Given the description of an element on the screen output the (x, y) to click on. 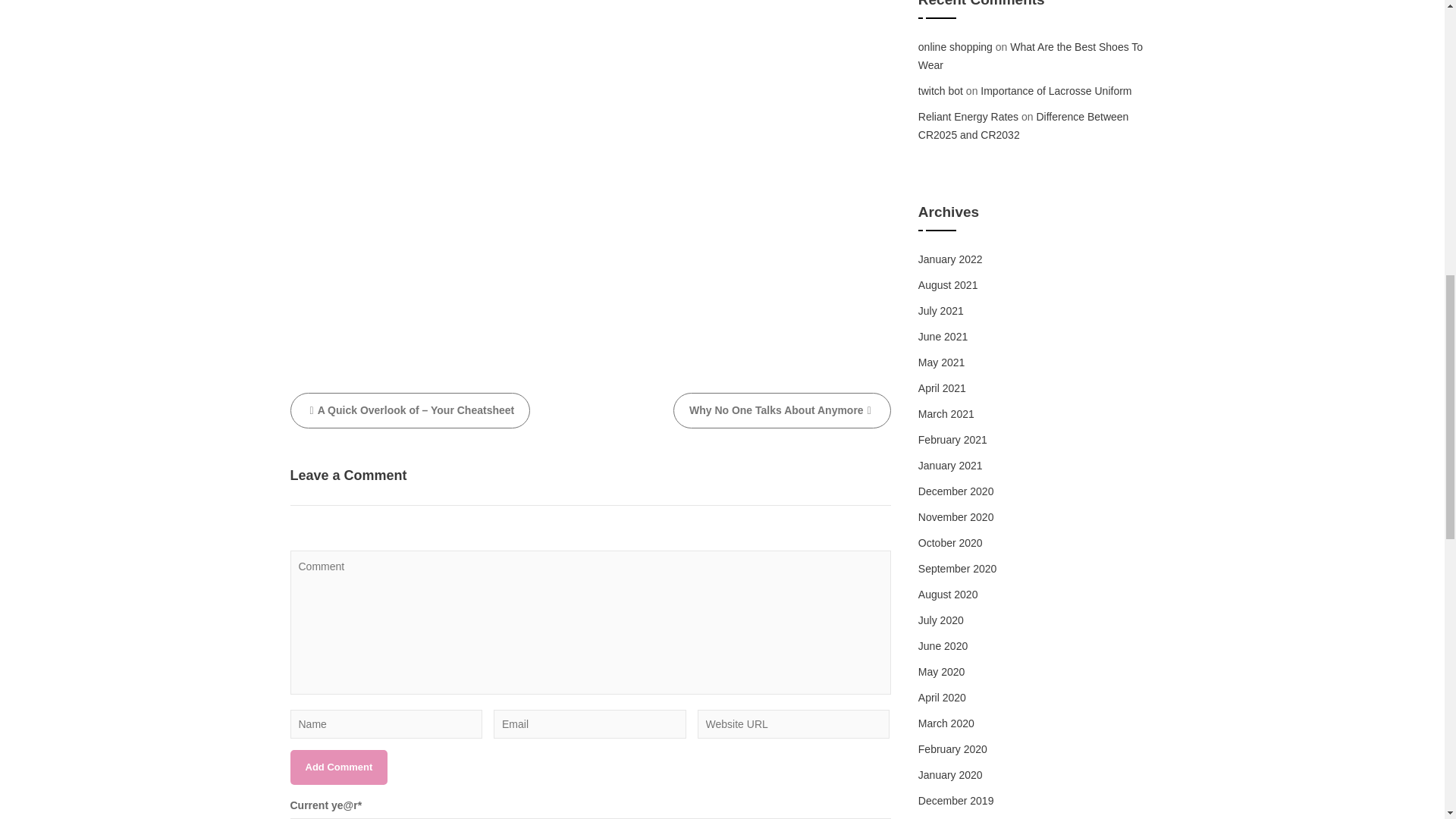
November 2020 (956, 517)
June 2021 (943, 336)
March 2021 (946, 413)
May 2021 (940, 362)
August 2021 (948, 285)
Add Comment (338, 767)
October 2020 (950, 542)
April 2021 (942, 387)
twitch bot (940, 91)
